Given the description of an element on the screen output the (x, y) to click on. 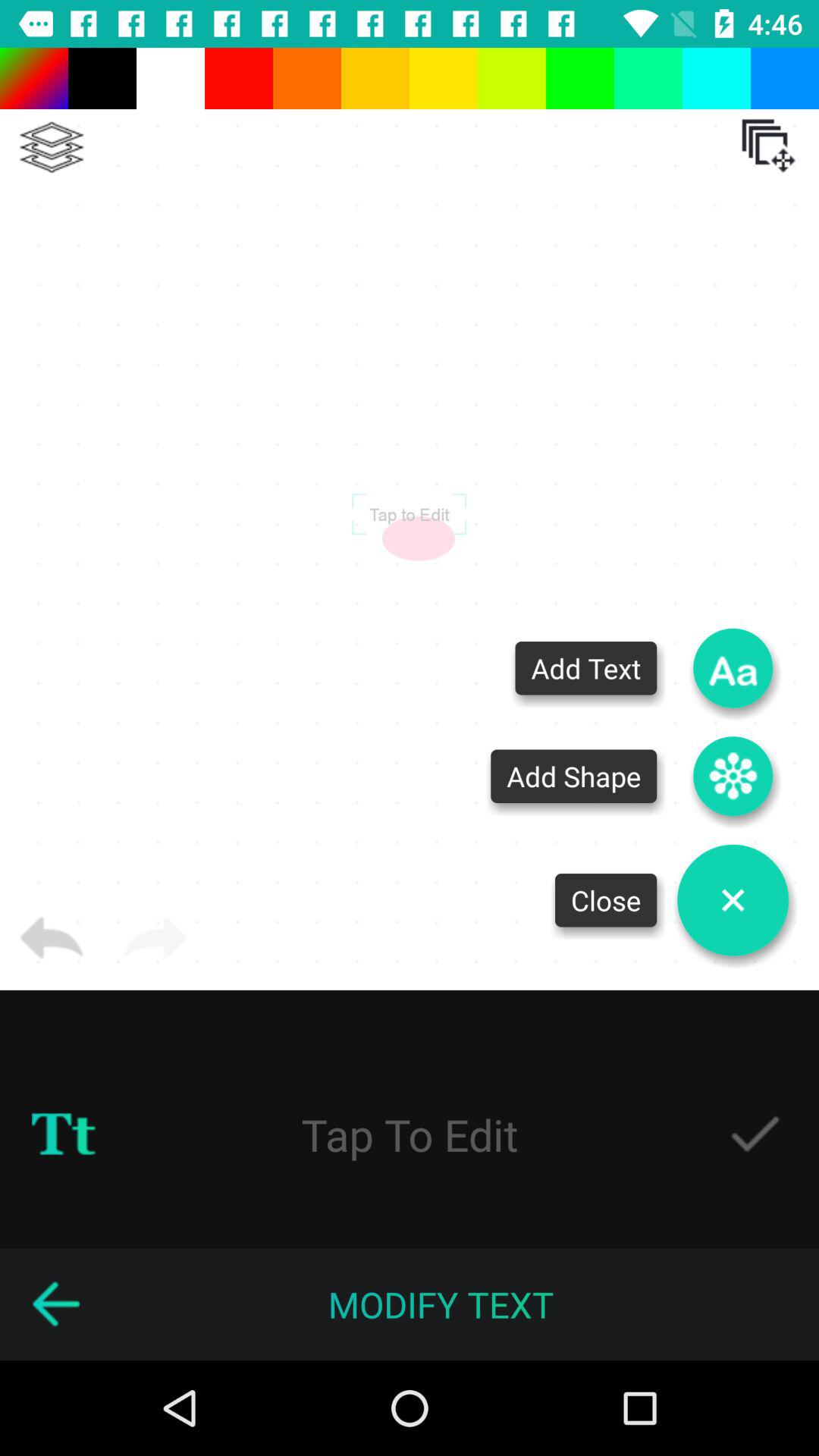
check the option (755, 1134)
